Given the description of an element on the screen output the (x, y) to click on. 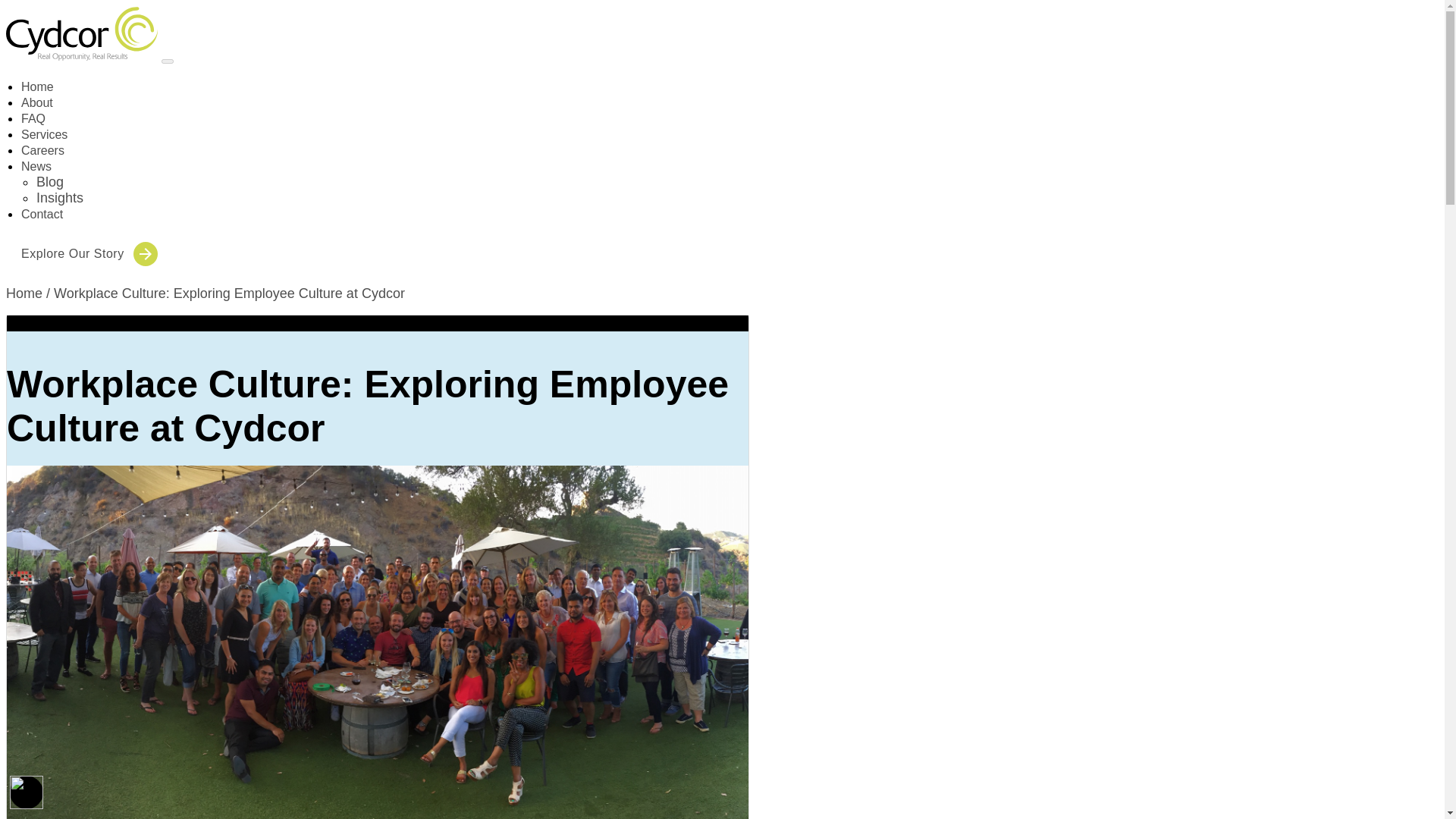
Blog (50, 181)
Services (43, 133)
About (36, 102)
FAQ (33, 118)
Accessibility Menu (26, 792)
Careers (42, 150)
Insights (59, 197)
News (35, 165)
Contact (41, 214)
Blog (50, 181)
Home (23, 293)
FAQ (33, 118)
About (36, 102)
Services (43, 133)
Home (37, 86)
